Given the description of an element on the screen output the (x, y) to click on. 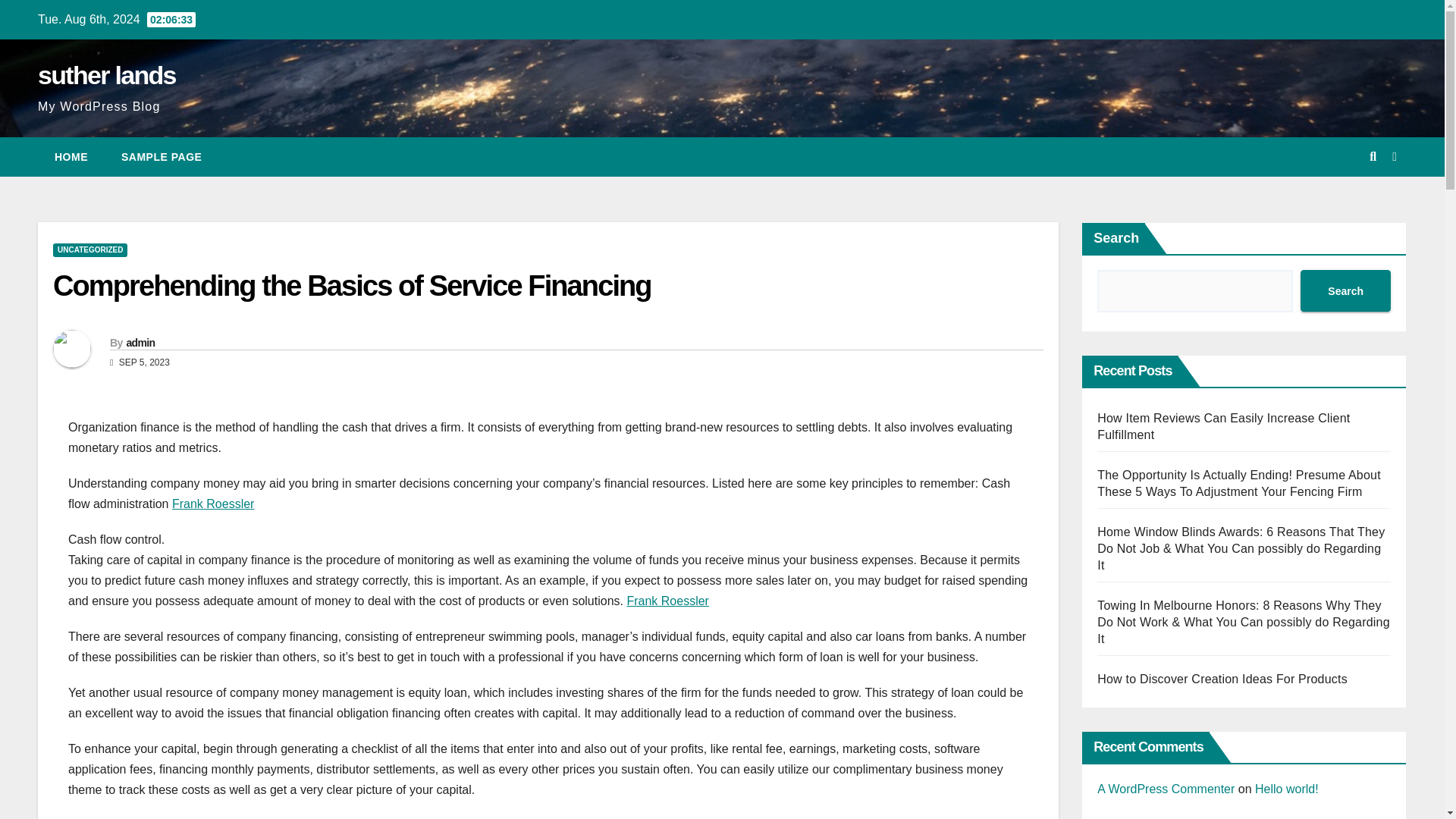
admin (139, 342)
SAMPLE PAGE (161, 156)
Home (70, 156)
Comprehending the Basics of Service Financing (351, 286)
UNCATEGORIZED (90, 250)
HOME (70, 156)
suther lands (106, 74)
Permalink to: Comprehending the Basics of Service Financing (351, 286)
Frank Roessler (666, 600)
Frank Roessler (212, 503)
